Given the description of an element on the screen output the (x, y) to click on. 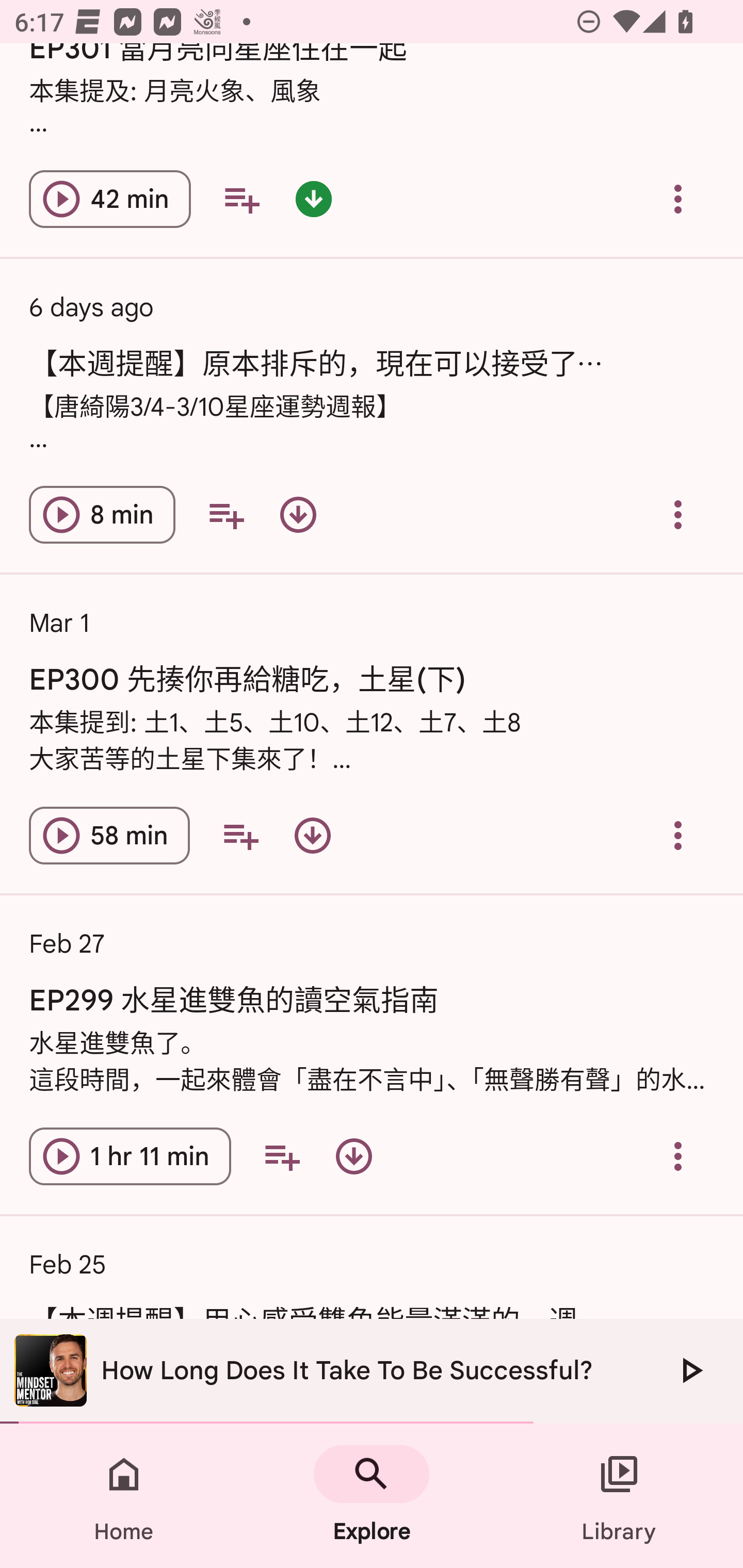
Play episode EP301 當月亮同星座住在一起 42 min (109, 199)
Add to your queue (241, 199)
Episode downloaded - double tap for options 0.0 (313, 199)
Overflow menu (677, 199)
Play episode 【本週提醒】原本排斥的，現在可以接受了⋯ 8 min (101, 514)
Add to your queue (226, 514)
Download episode (298, 514)
Overflow menu (677, 514)
Play episode EP300 先揍你再給糖吃，土星(下) 58 min (109, 835)
Add to your queue (240, 835)
Download episode (312, 835)
Overflow menu (677, 835)
Play episode EP299 水星進雙魚的讀空氣指南 1 hr 11 min (129, 1156)
Add to your queue (281, 1156)
Download episode (354, 1156)
Overflow menu (677, 1156)
Play (690, 1370)
Home (123, 1495)
Library (619, 1495)
